Given the description of an element on the screen output the (x, y) to click on. 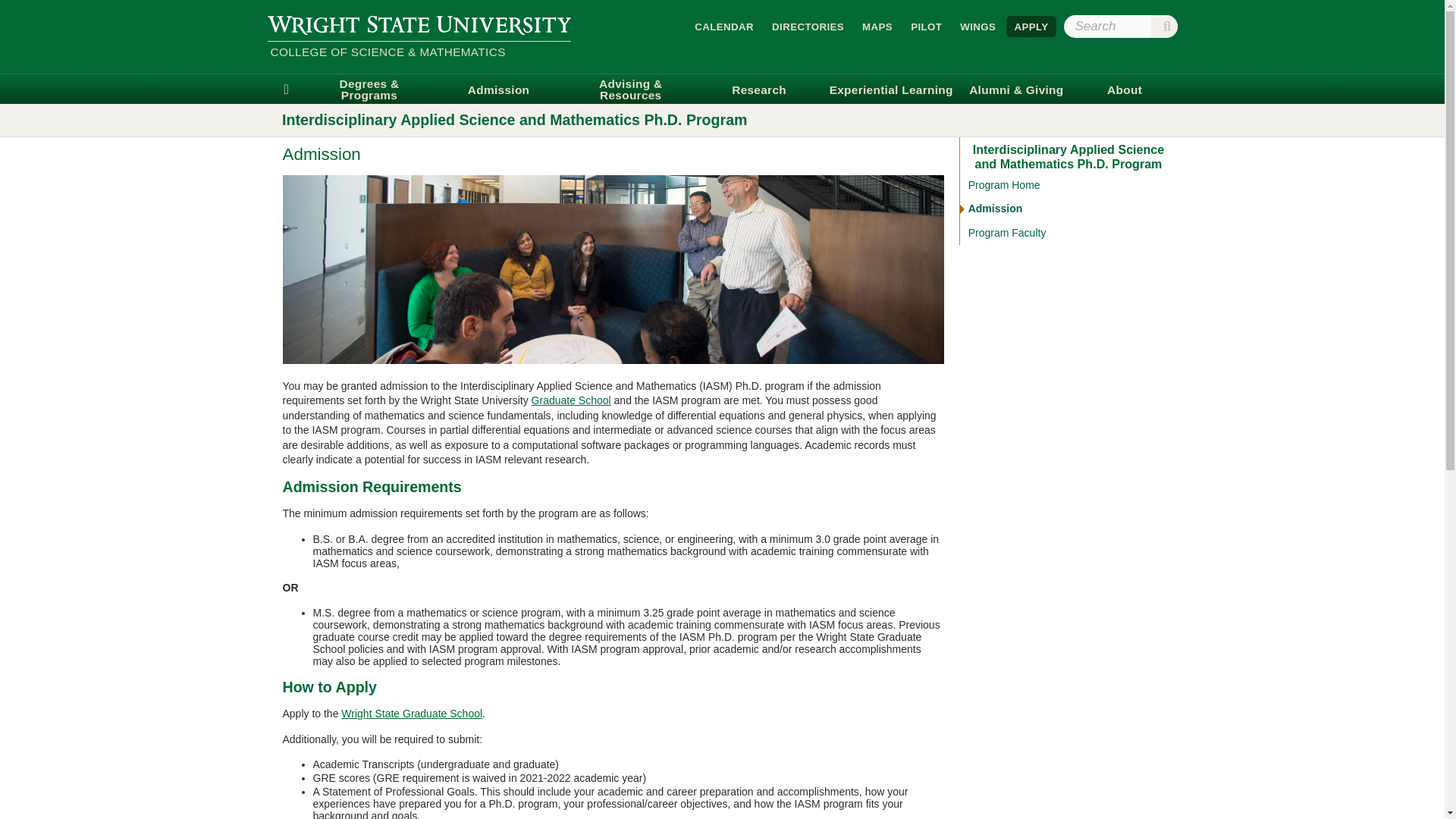
Program Home (1068, 185)
Wright State University (418, 23)
Wright State Graduate School (410, 713)
APPLY (1030, 25)
Admission (498, 89)
Experiential Learning (890, 89)
Go to Wright State University home page (418, 23)
Program Faculty (1068, 233)
CALENDAR (724, 25)
